Given the description of an element on the screen output the (x, y) to click on. 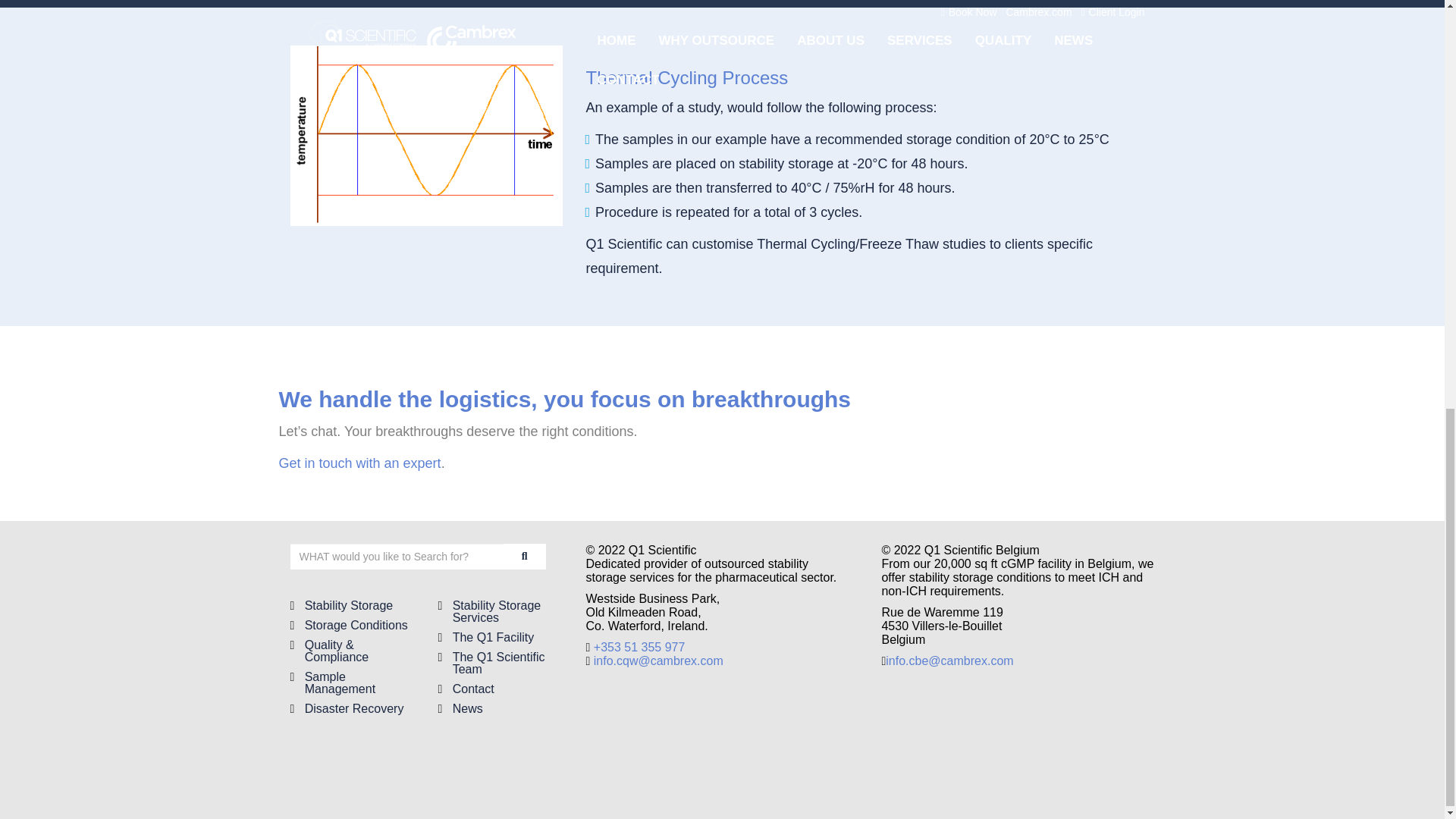
Stability Storage (348, 604)
Stability Storage Services (496, 611)
Storage Conditions (355, 625)
Sample Management (339, 682)
Disaster Recovery (354, 707)
The Q1 Scientific Team (498, 662)
The Q1 Facility (493, 636)
Get in touch with an expert (360, 462)
